Given the description of an element on the screen output the (x, y) to click on. 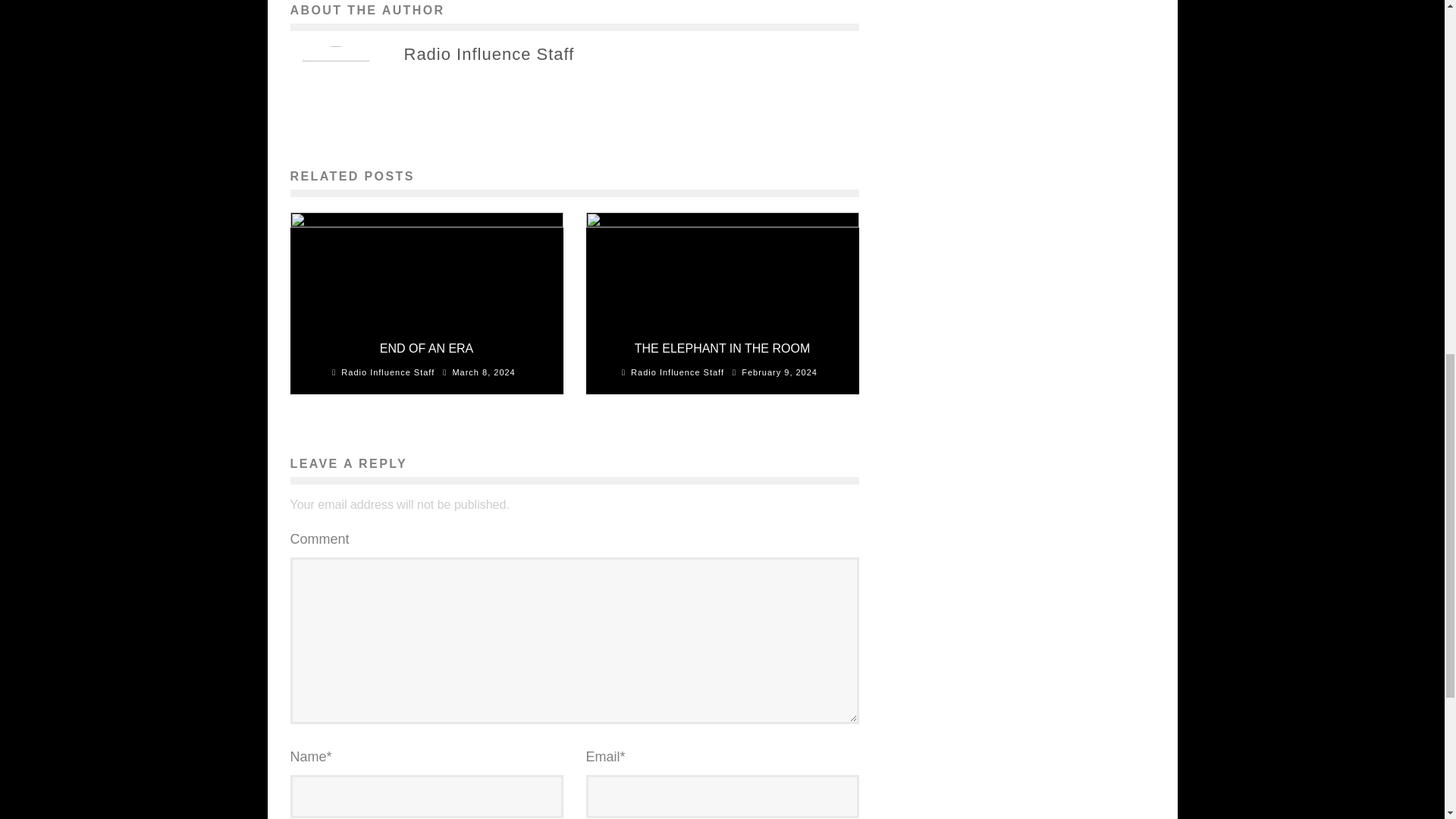
END OF AN ERA (427, 348)
THE ELEPHANT IN THE ROOM (721, 348)
Radio Influence Staff (488, 53)
Radio Influence Staff (386, 371)
Radio Influence Staff (676, 371)
